Given the description of an element on the screen output the (x, y) to click on. 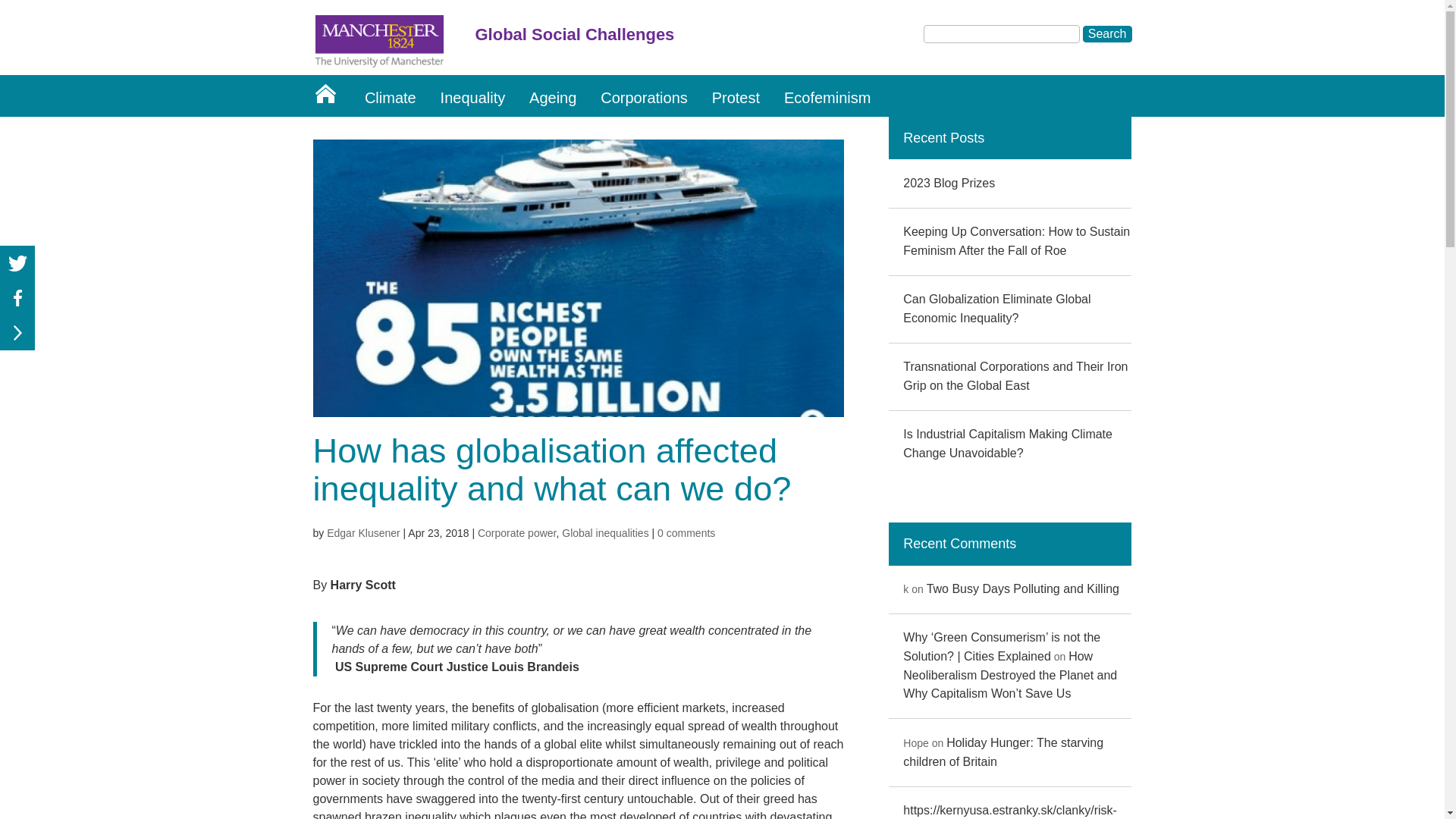
Two Busy Days Polluting and Killing (1022, 588)
Corporations (643, 96)
Global Social Challenges (737, 38)
2023 Blog Prizes (948, 182)
Can Globalization Eliminate Global Economic Inequality? (996, 308)
Inequality (472, 96)
Edgar Klusener (363, 532)
Ecofeminism (826, 96)
Global inequalities (604, 532)
Climate (389, 96)
Search (1107, 33)
Protest (735, 96)
0 comments (686, 532)
